Given the description of an element on the screen output the (x, y) to click on. 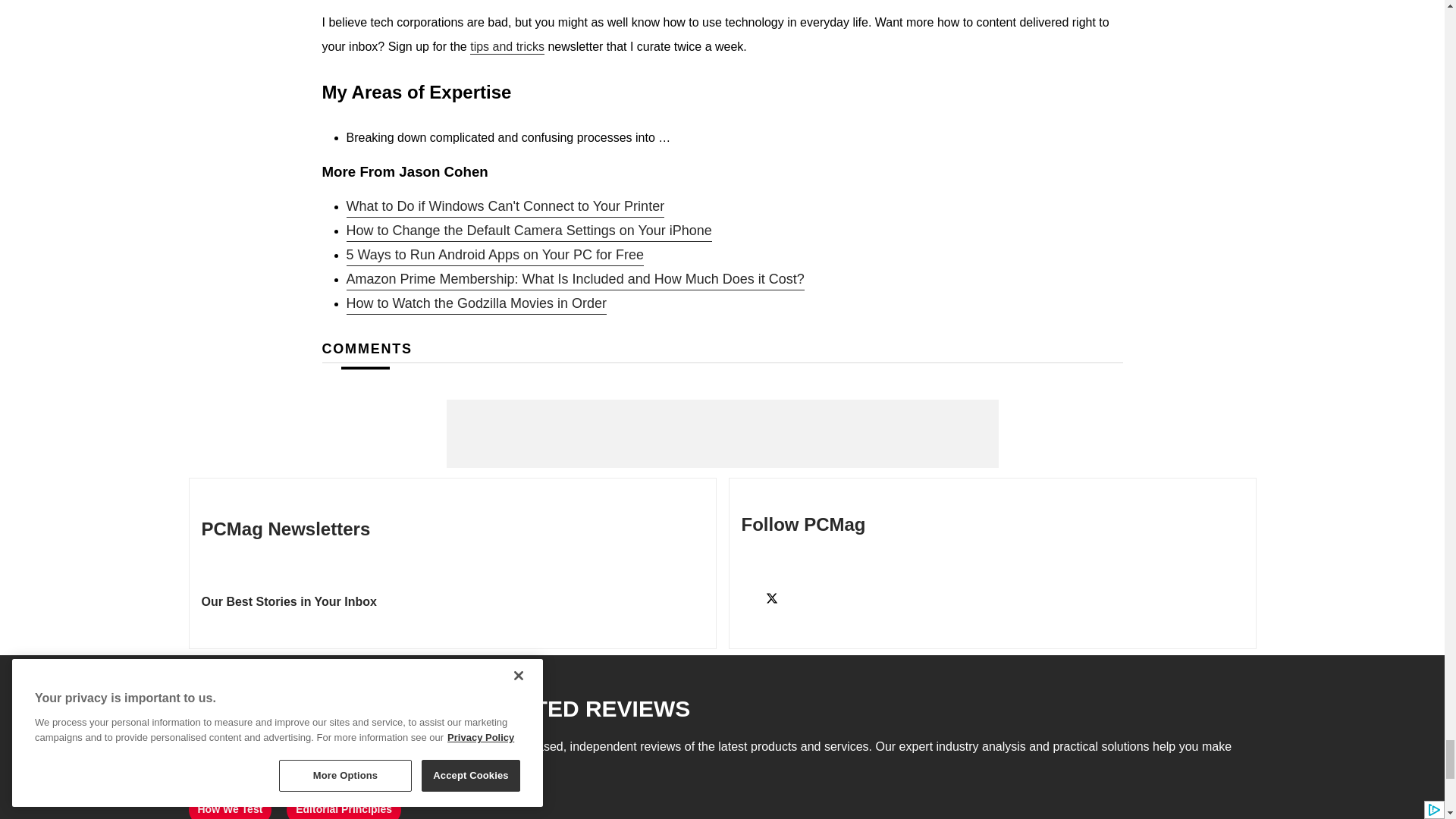
3rd party ad content (721, 433)
